Given the description of an element on the screen output the (x, y) to click on. 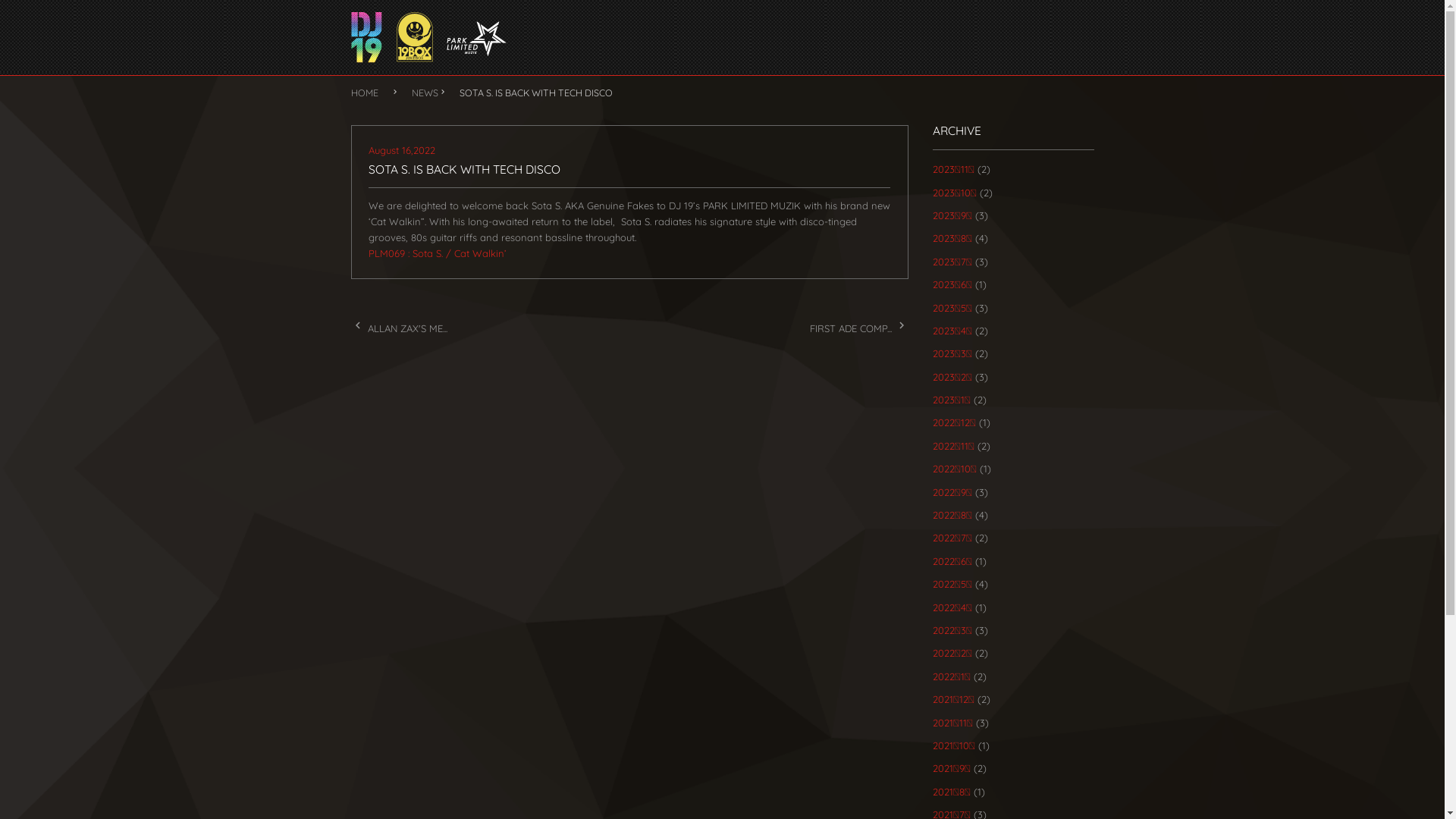
HOME Element type: text (369, 92)
chevron_left ALLAN ZAX'S ME... Element type: text (398, 328)
FIRST ADE COMP... chevron_right Element type: text (858, 328)
NEWS Element type: text (424, 92)
